Given the description of an element on the screen output the (x, y) to click on. 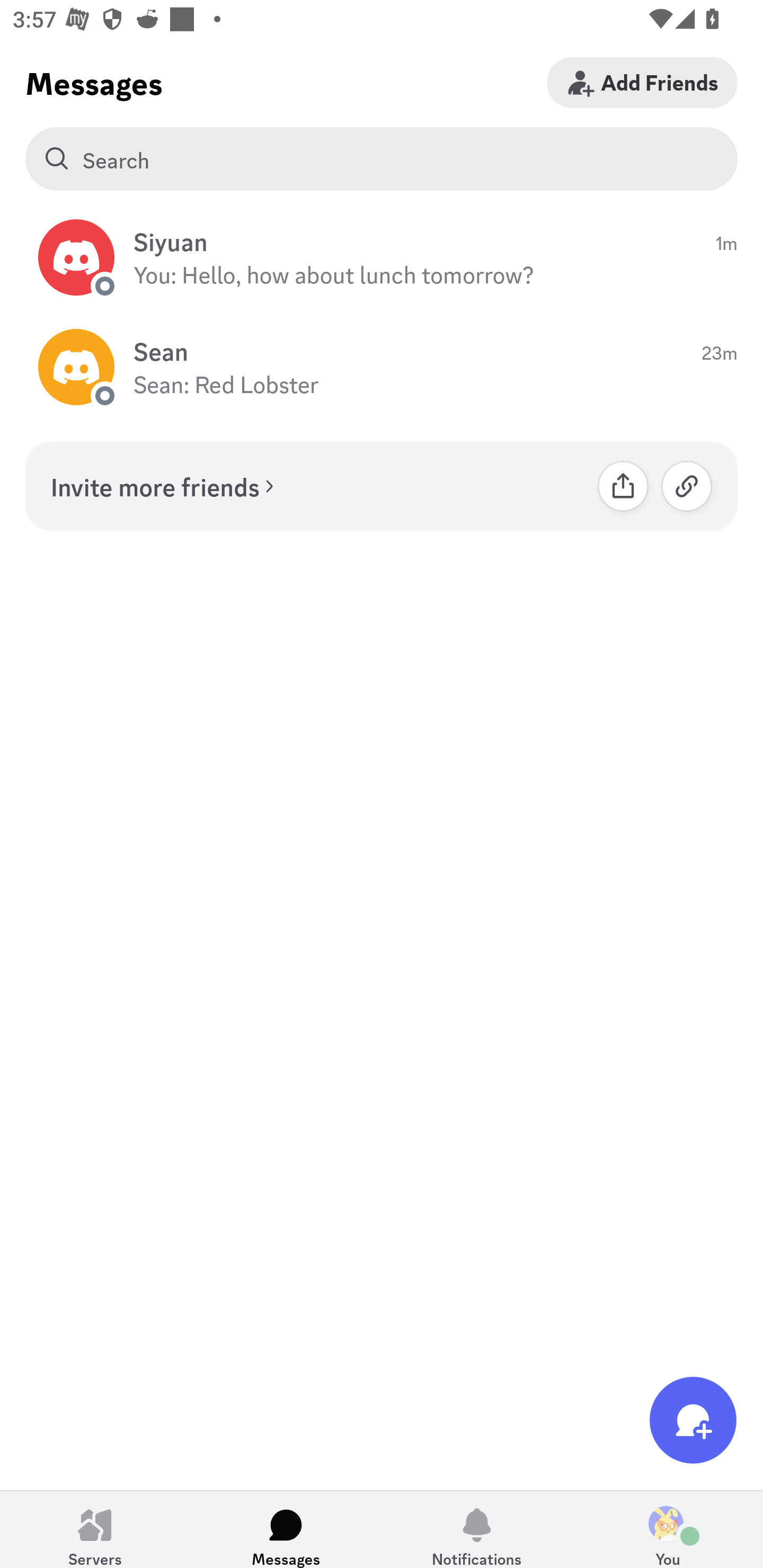
Add Friends (642, 82)
Search (381, 159)
Sean (direct message) Sean 23m Sean: Red Lobster (381, 367)
Share Link (622, 485)
Copy Link (686, 485)
New Message (692, 1419)
Servers (95, 1529)
Messages (285, 1529)
Notifications (476, 1529)
You (667, 1529)
